Given the description of an element on the screen output the (x, y) to click on. 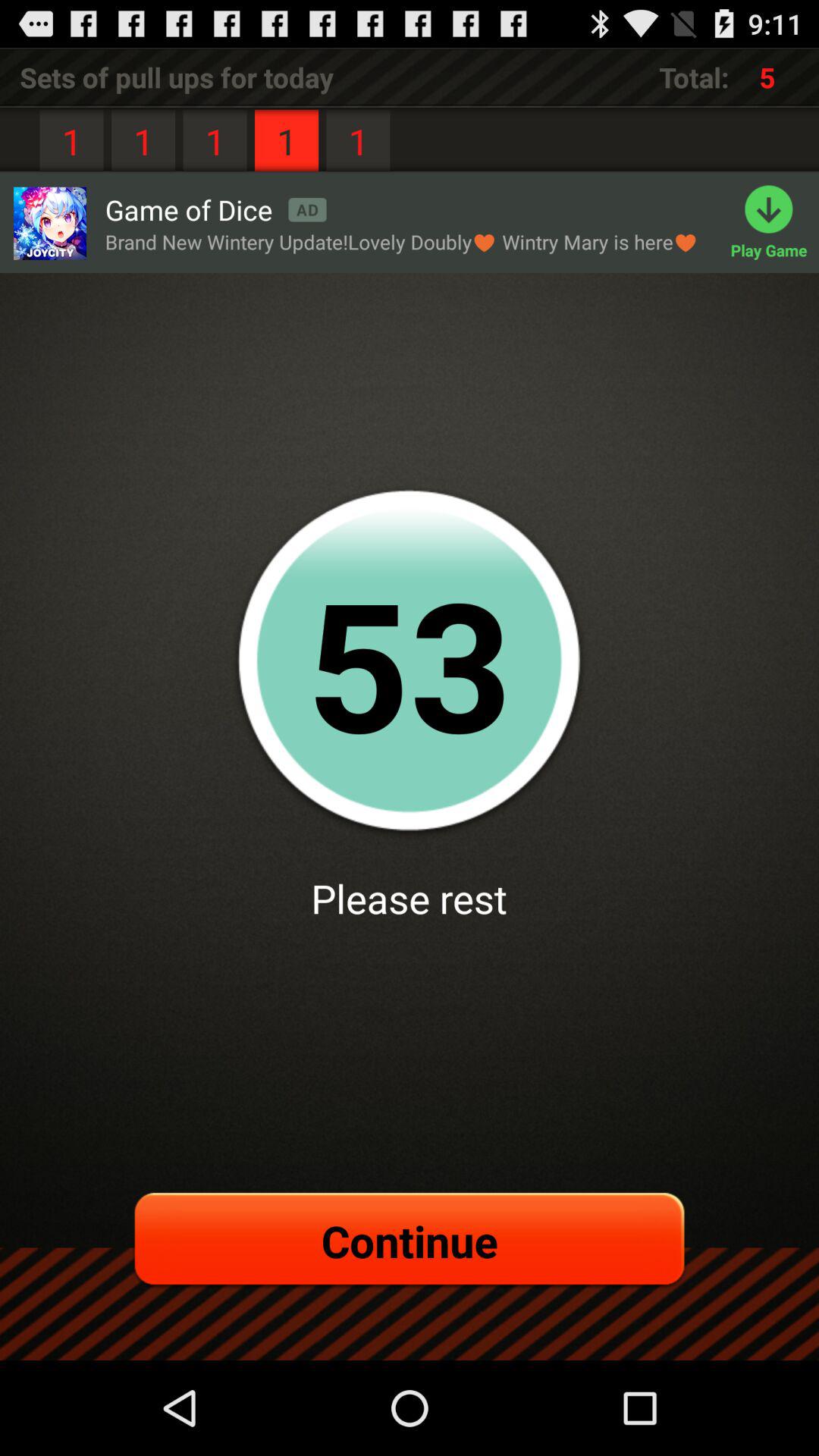
select the app next to the play game app (215, 209)
